Given the description of an element on the screen output the (x, y) to click on. 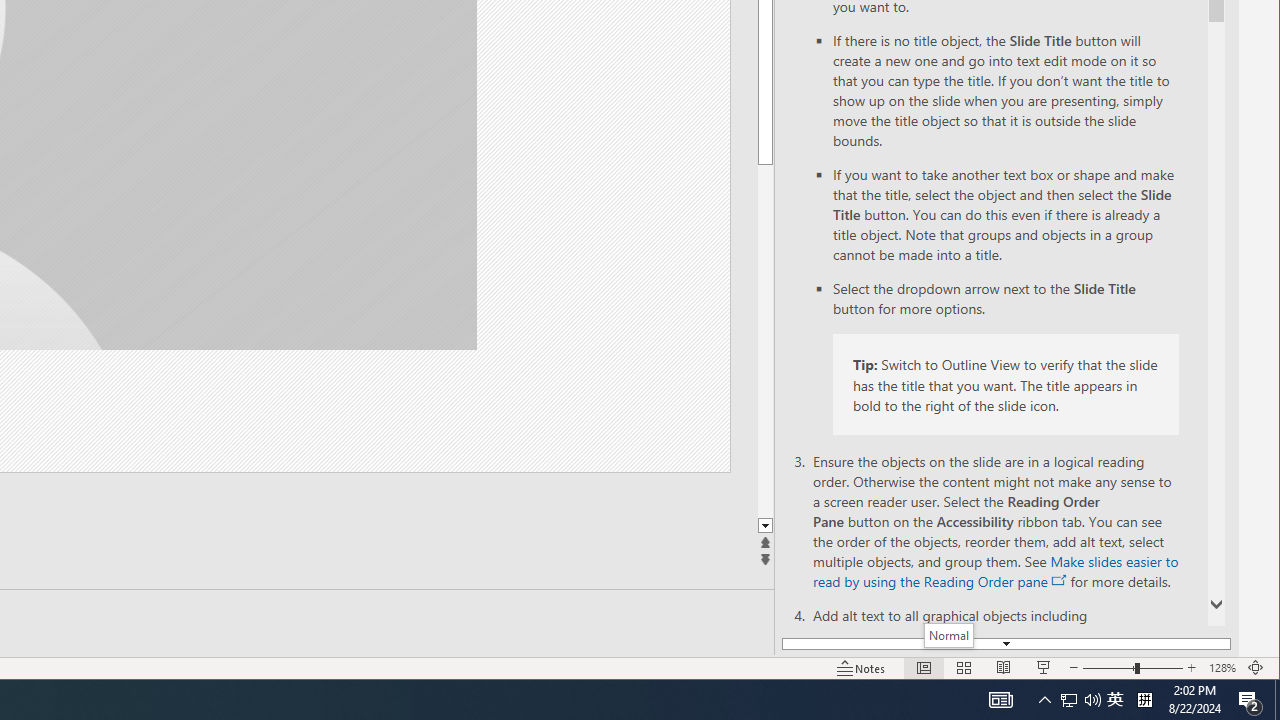
Action Center, 2 new notifications (1250, 699)
Tray Input Indicator - Chinese (Simplified, China) (1144, 699)
Show desktop (1277, 699)
Q2790: 100% (1092, 699)
Line down (765, 525)
Normal (923, 668)
Zoom Out (1069, 699)
Normal (1108, 668)
Page down (949, 635)
